Given the description of an element on the screen output the (x, y) to click on. 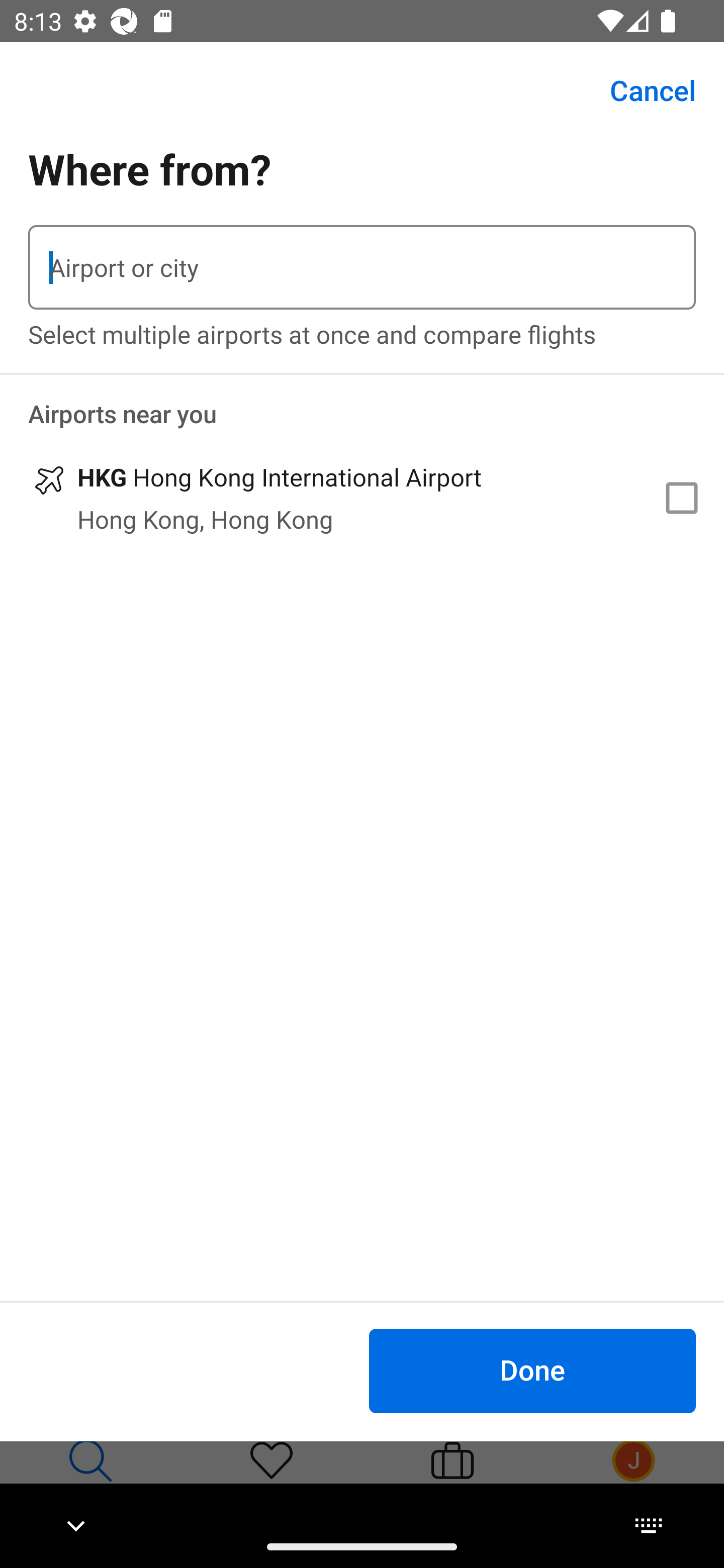
Cancel (641, 90)
Airport or city (361, 266)
Done (532, 1370)
